Given the description of an element on the screen output the (x, y) to click on. 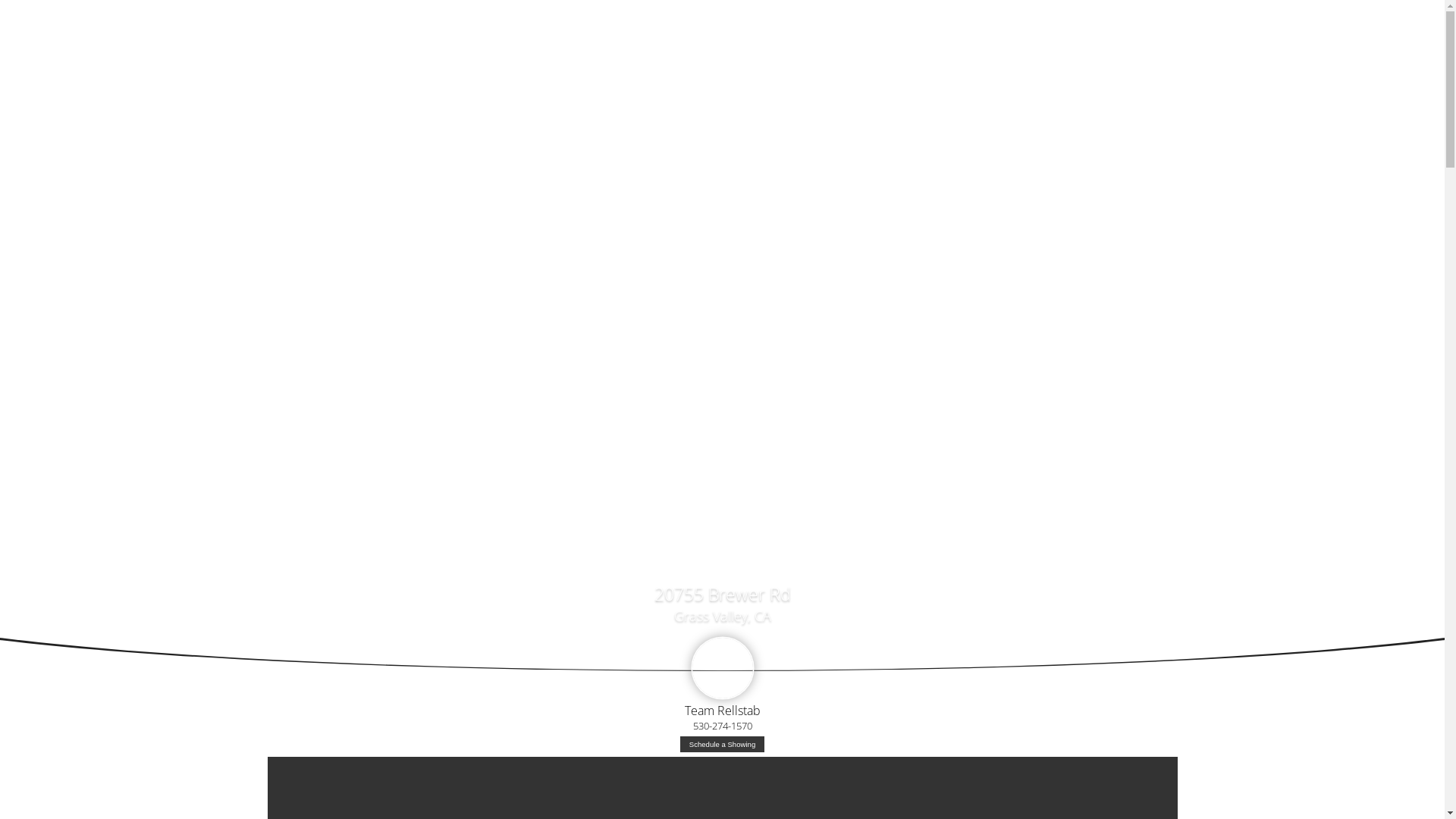
Schedule a Showing Element type: text (722, 744)
